Given the description of an element on the screen output the (x, y) to click on. 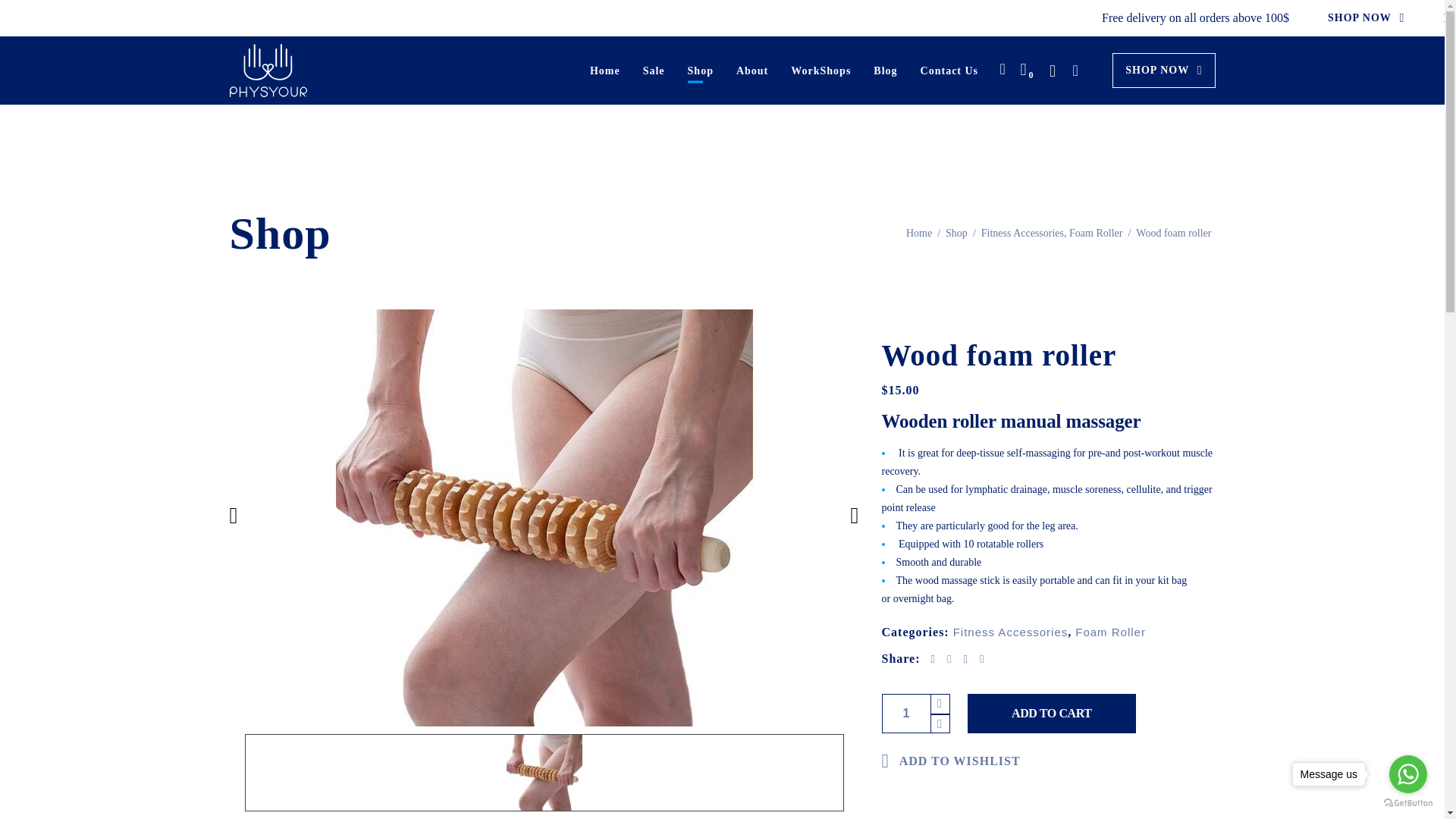
Sale (654, 70)
Home (604, 70)
Qty (905, 713)
Shop (701, 70)
1 (905, 713)
